Given the description of an element on the screen output the (x, y) to click on. 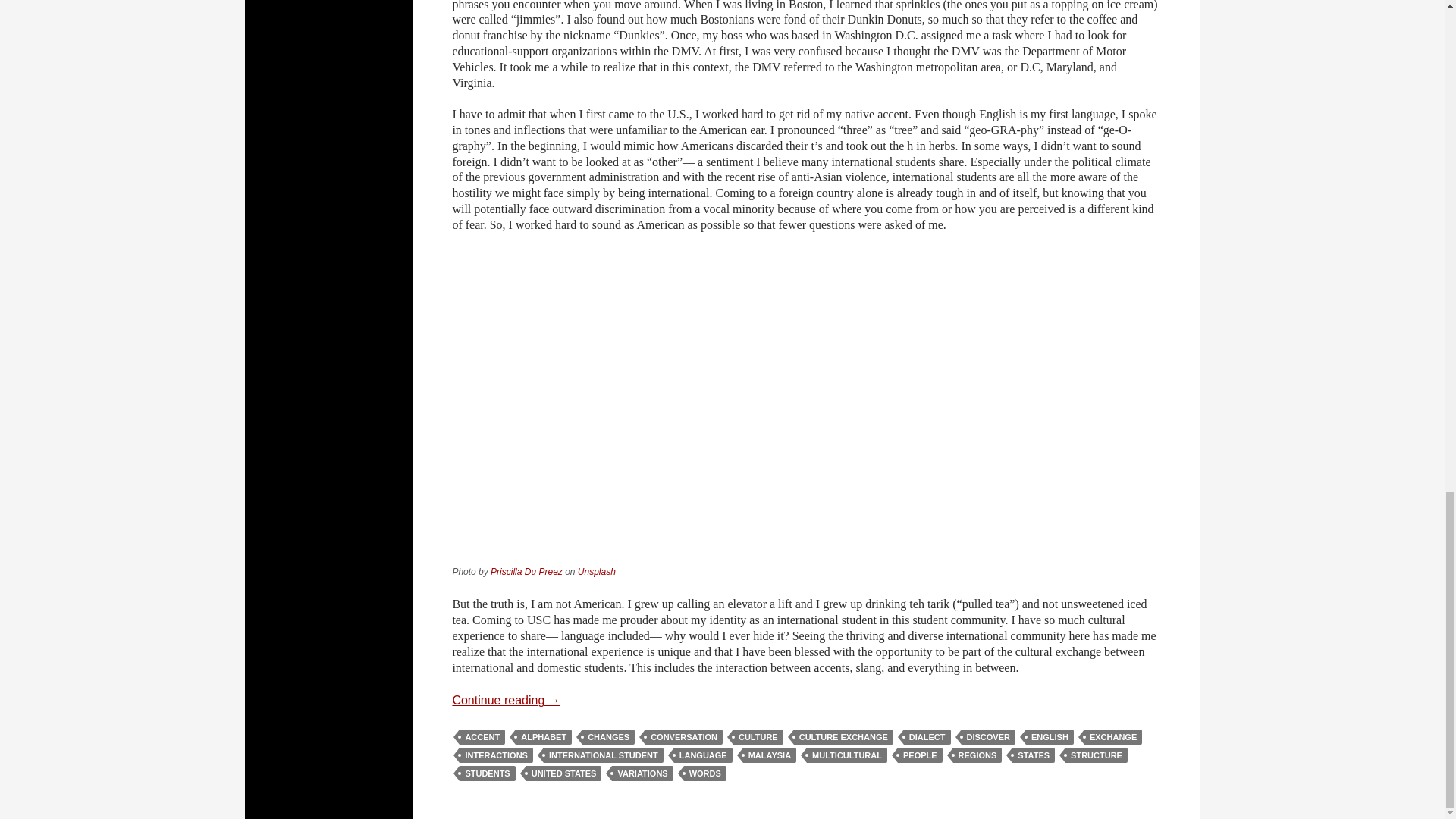
ALPHABET (543, 736)
STATES (1032, 754)
Priscilla Du Preez (526, 571)
INTERNATIONAL STUDENT (603, 754)
MALAYSIA (769, 754)
INTERACTIONS (496, 754)
ENGLISH (1050, 736)
DISCOVER (987, 736)
CONVERSATION (683, 736)
CULTURE EXCHANGE (843, 736)
